Given the description of an element on the screen output the (x, y) to click on. 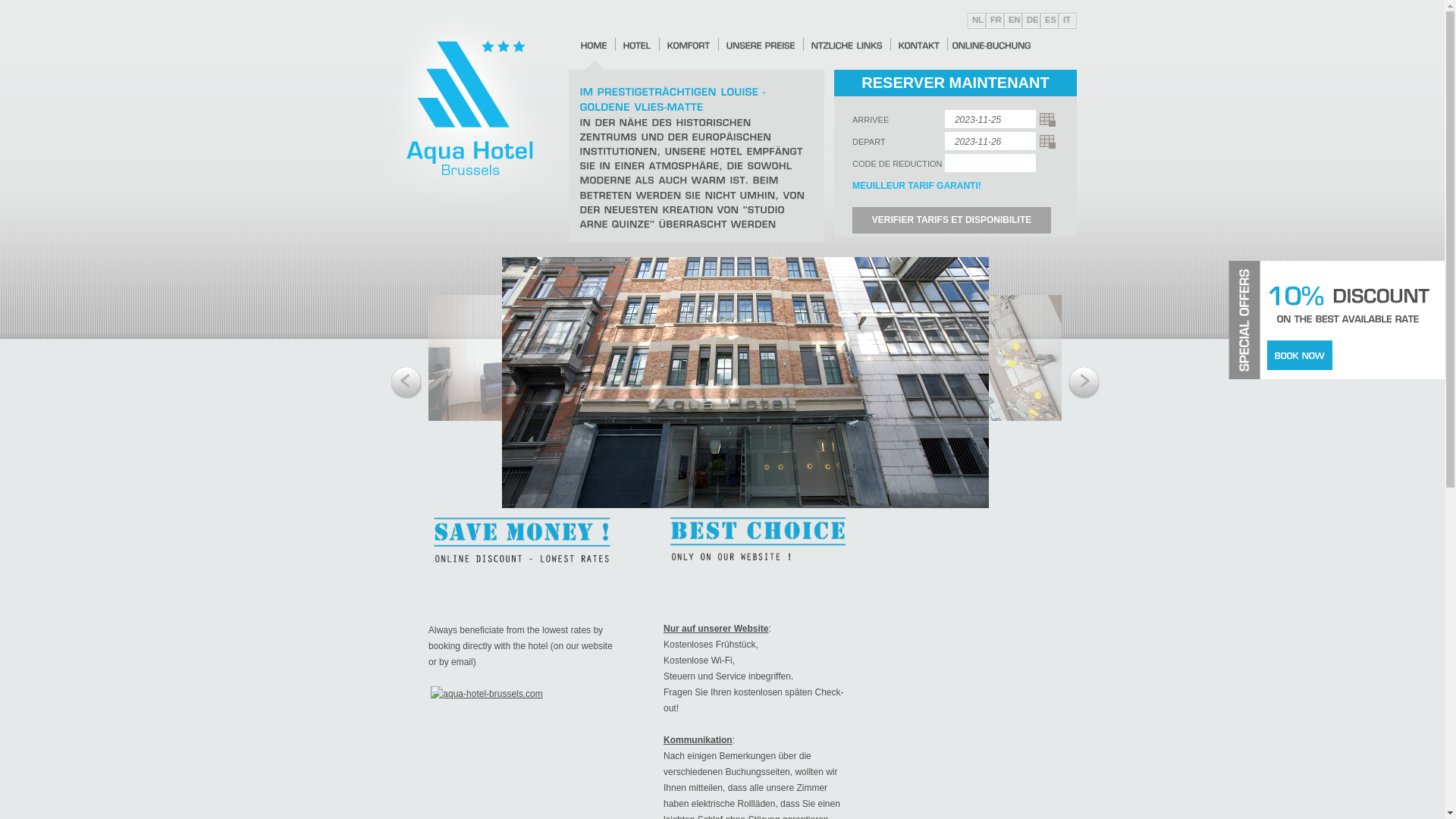
next Image Element type: hover (1083, 384)
Aqua hotel Brussel | Online-Buchung Element type: hover (991, 44)
NL Element type: text (975, 19)
ES Element type: text (1048, 19)
Aqua hotel Brussel | Hotel Element type: hover (637, 44)
Aqua hotel Brussel Element type: hover (470, 212)
... Element type: hover (1047, 119)
FR Element type: text (993, 19)
Aqua hotel Brussel | home Element type: hover (593, 44)
Aqua hotel Brussel | Kontakt Element type: hover (918, 44)
EN Element type: text (1012, 19)
aqua-hotel-brussels.com Element type: hover (486, 693)
previous Image Element type: hover (405, 384)
Aqua hotel Brussel | Unsere Preise Element type: hover (760, 44)
DE Element type: text (1030, 19)
IT Element type: text (1064, 19)
Verifier tarifs et disponibilite Element type: text (951, 220)
... Element type: hover (1047, 141)
Aqua hotel Brussel | Komfort Element type: hover (688, 44)
